Given the description of an element on the screen output the (x, y) to click on. 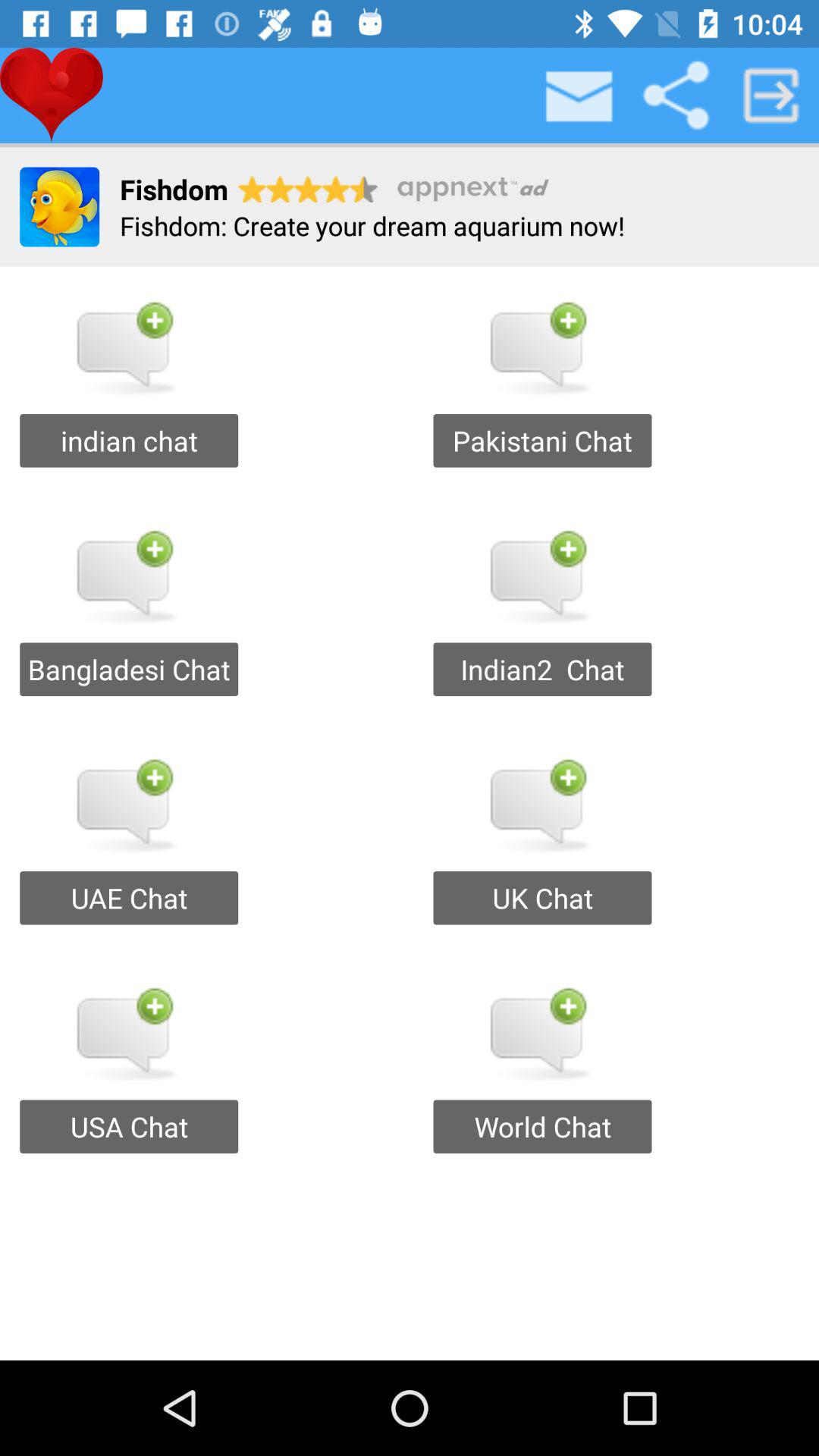
go to the next page (771, 95)
